Given the description of an element on the screen output the (x, y) to click on. 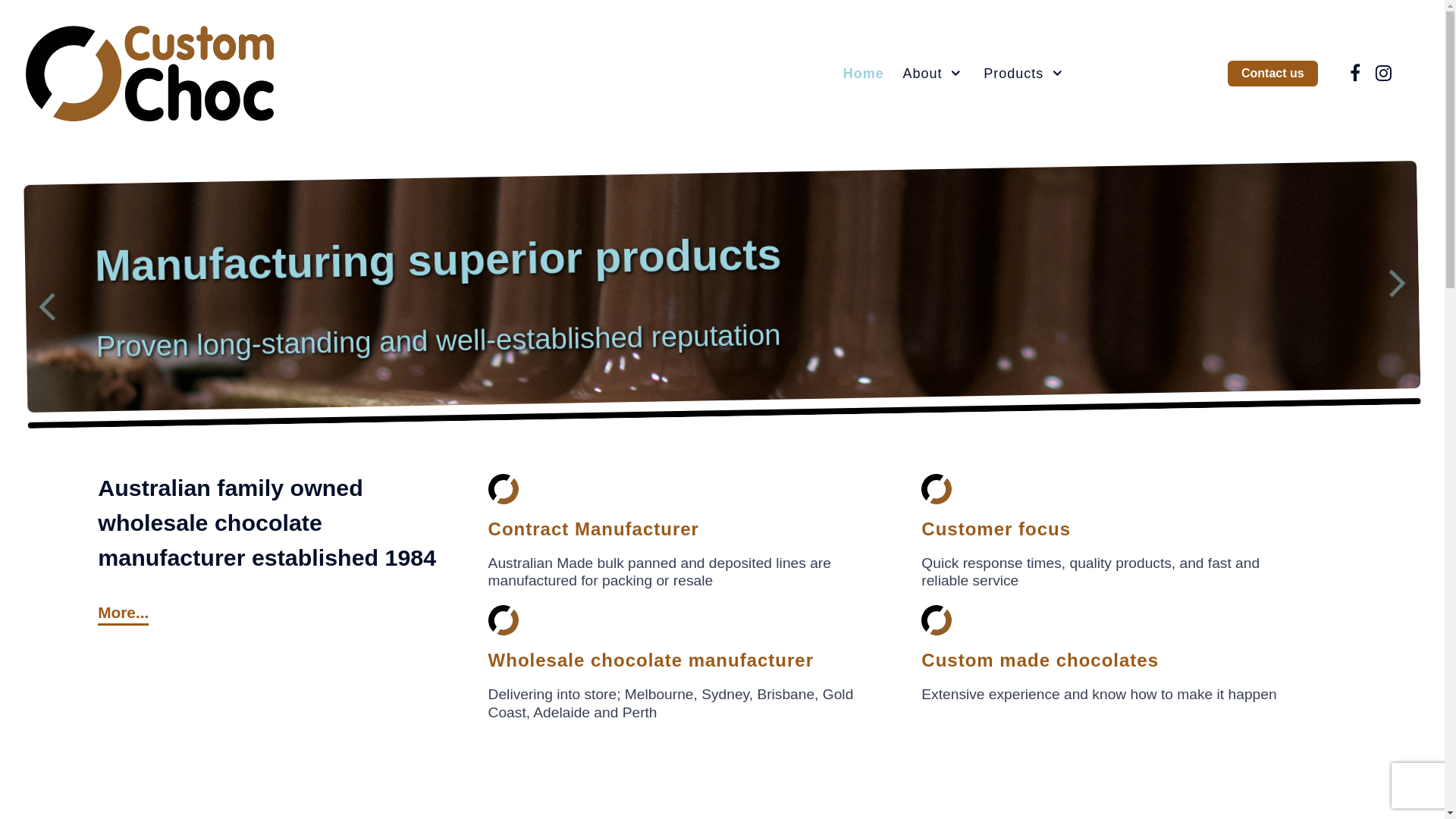
Products Element type: text (1025, 73)
Contract Manufacturer Element type: text (593, 528)
Wholesale chocolate manufacturer Element type: text (650, 659)
About Element type: text (933, 73)
Custom made chocolates Element type: text (1039, 659)
Manufacturing superior products Element type: text (437, 253)
Contact us Element type: text (1272, 73)
More... Element type: text (122, 613)
Home Element type: text (863, 73)
Custom Choc Element type: hover (149, 70)
Customer focus Element type: text (995, 528)
